Given the description of an element on the screen output the (x, y) to click on. 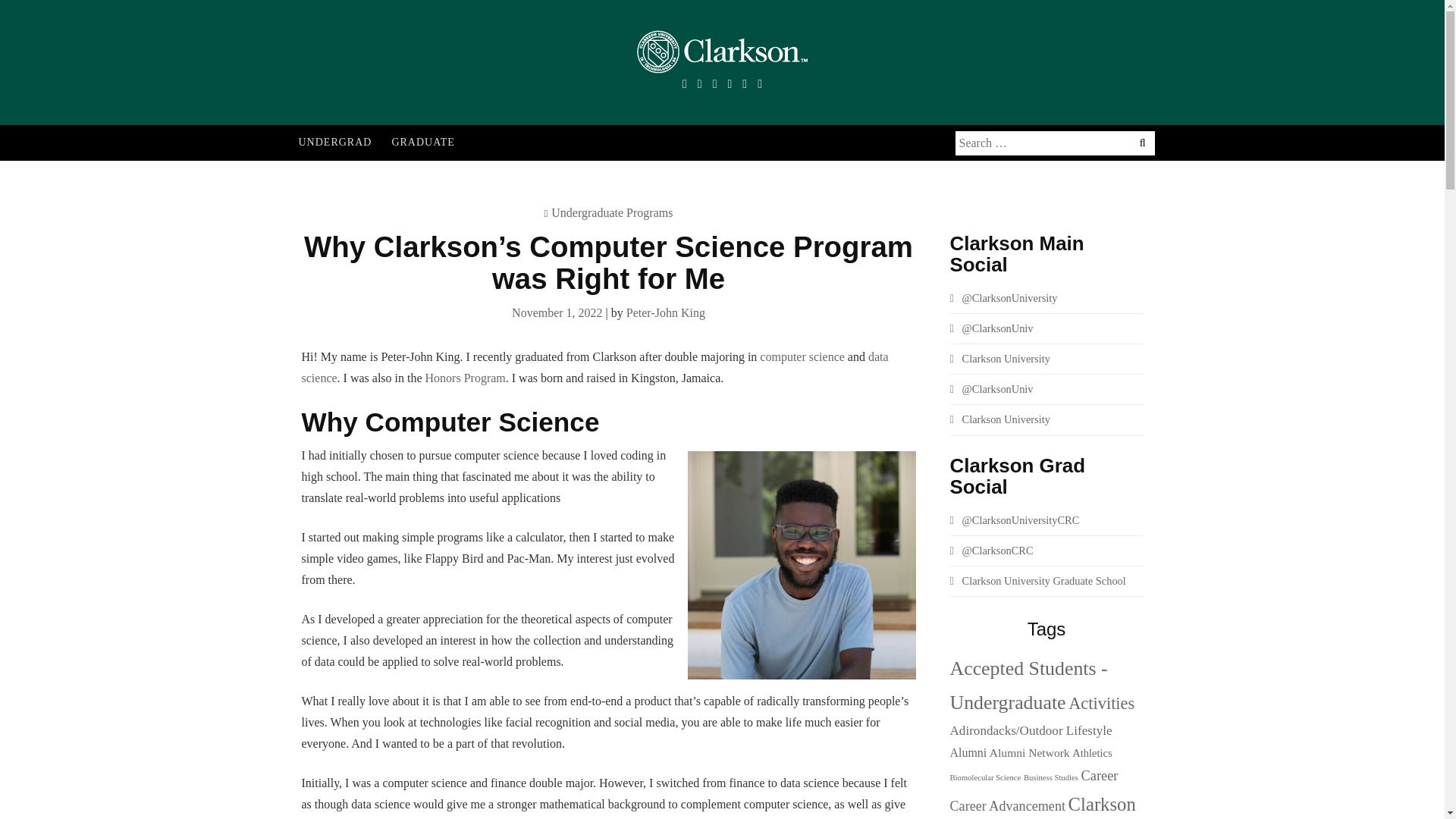
Peter-John King (665, 312)
Honors Program (465, 377)
GRADUATE (422, 142)
Undergraduate Programs (611, 212)
data science (594, 367)
BLOG AT CLARKSON UNIVERSITY (535, 90)
November 1, 2022 (557, 312)
   Clarkson University (999, 358)
computer science (802, 356)
UNDERGRAD (334, 142)
